Given the description of an element on the screen output the (x, y) to click on. 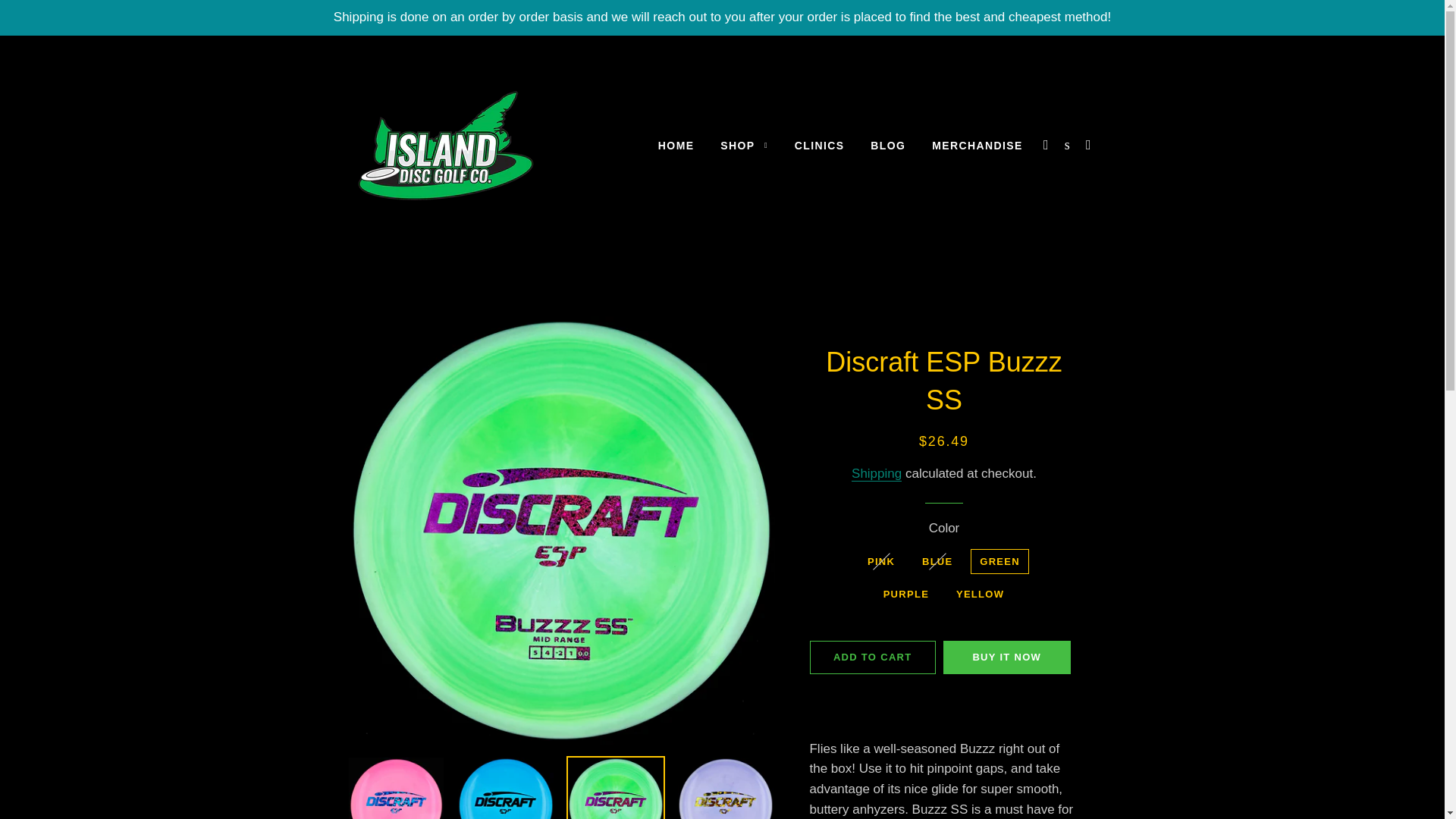
HOME (676, 146)
SHOP (743, 146)
